Given the description of an element on the screen output the (x, y) to click on. 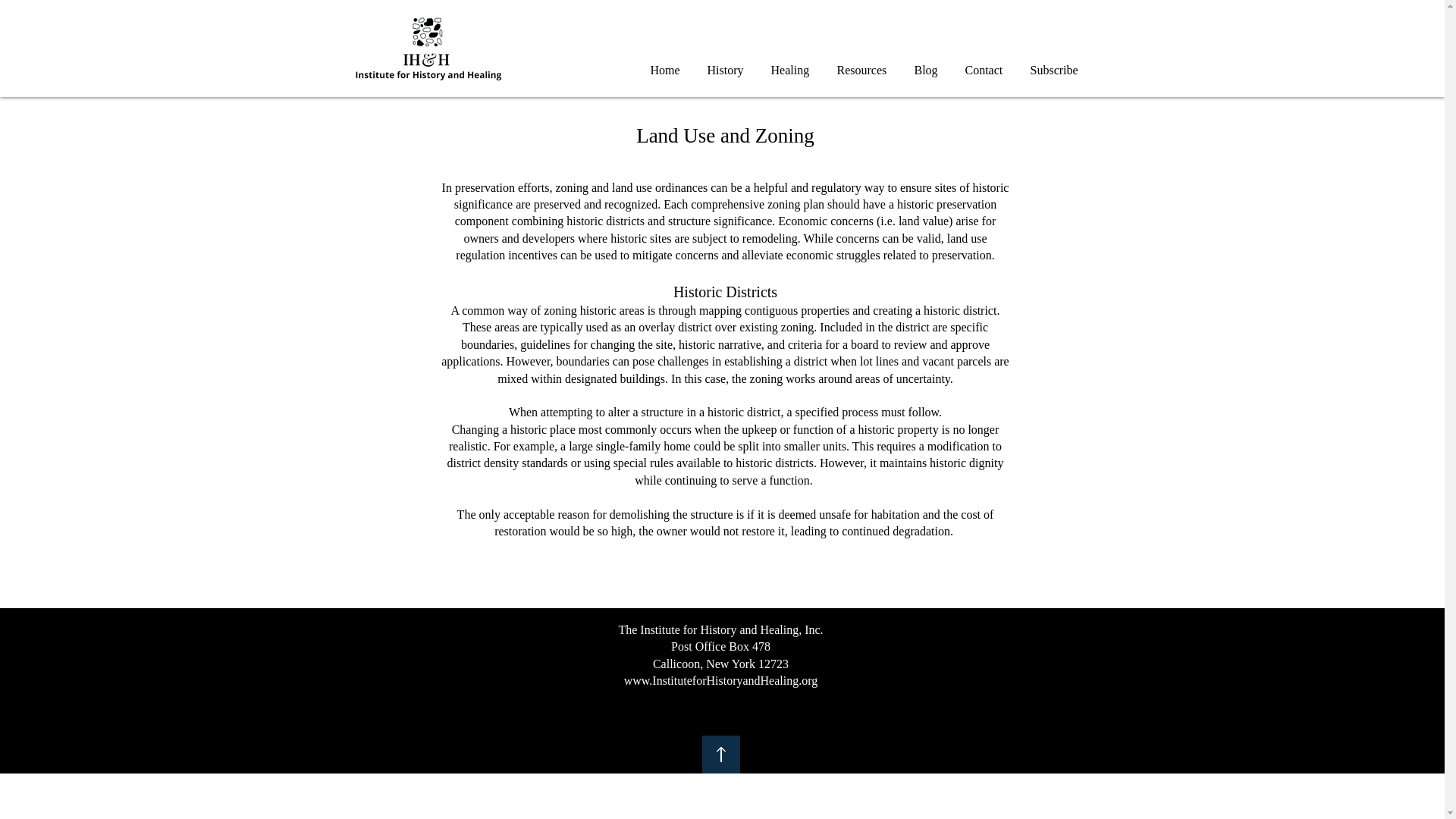
History (725, 63)
Blog (926, 63)
Contact (983, 63)
Resources (862, 63)
Home (665, 63)
Subscribe (1053, 63)
Healing (789, 63)
www.InstituteforHistoryandHealing.org (721, 680)
